Given the description of an element on the screen output the (x, y) to click on. 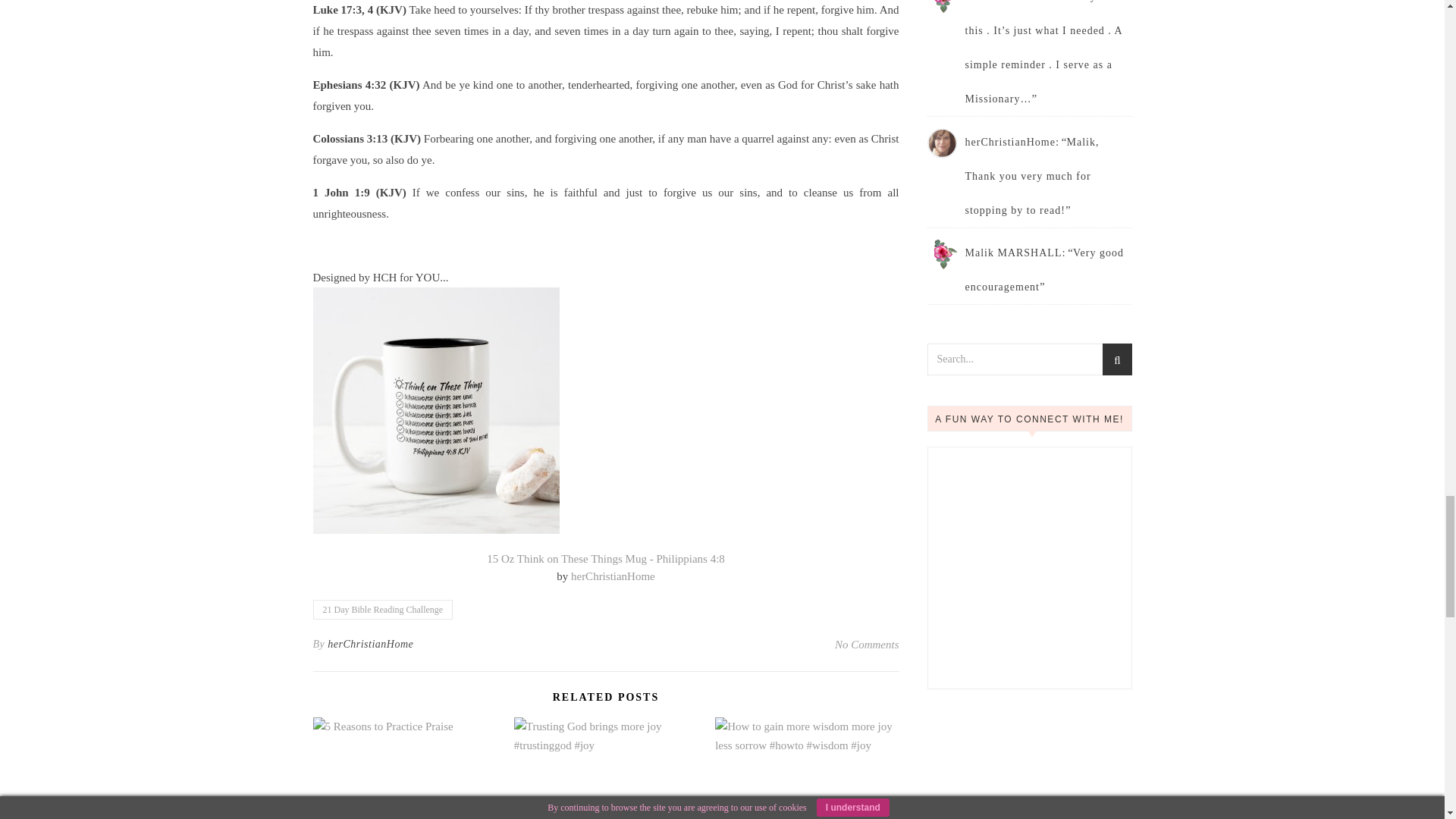
herChristianHome (612, 576)
No Comments (866, 644)
Posts by herChristianHome (370, 644)
herChristianHome (370, 644)
15 Oz Think on These Things Mug - Philippians 4:8 (605, 558)
21 Day Bible Reading Challenge (382, 609)
